Given the description of an element on the screen output the (x, y) to click on. 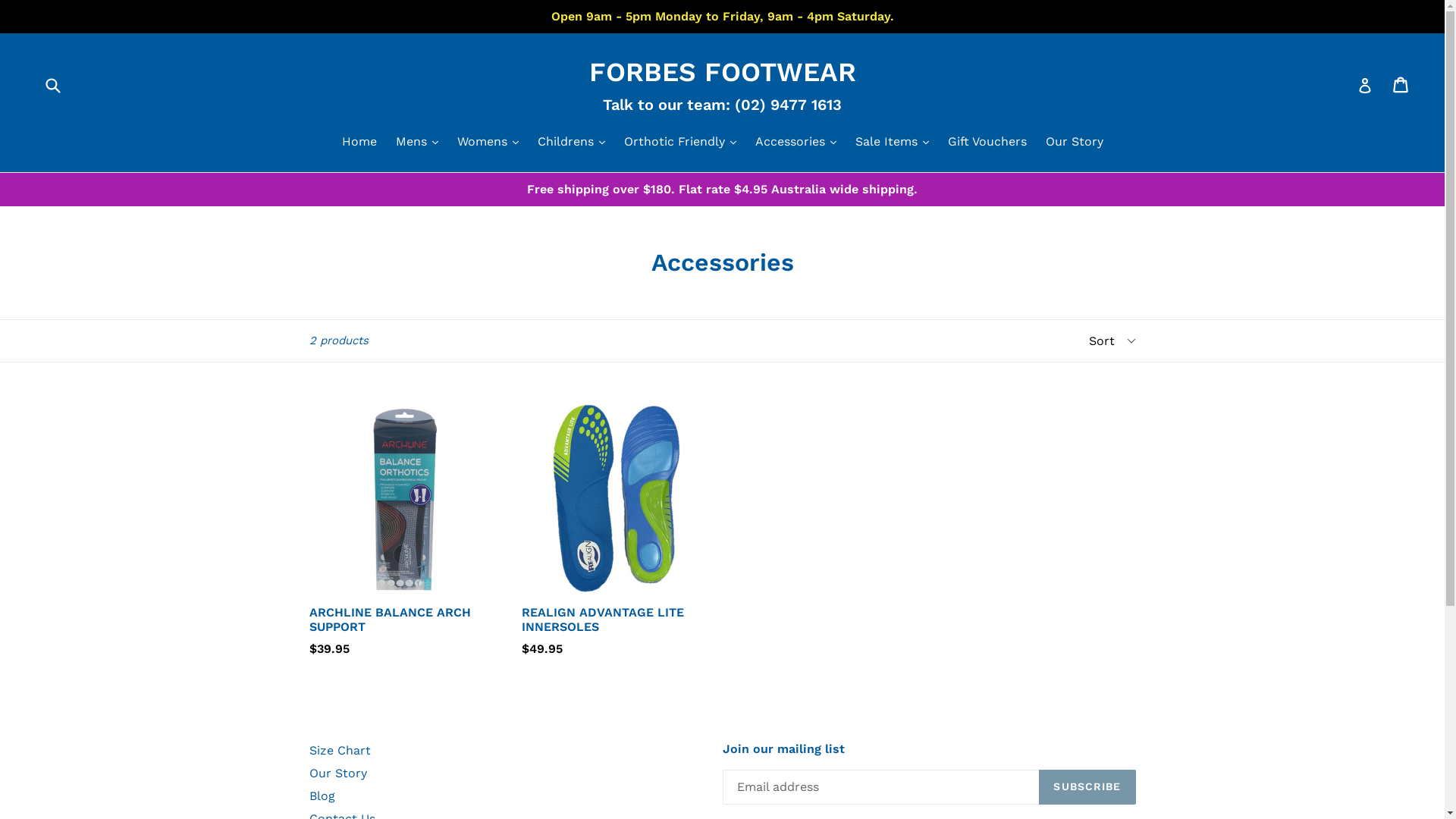
FORBES FOOTWEAR Element type: text (721, 71)
Log in Element type: text (1364, 84)
Blog Element type: text (322, 795)
Our Story Element type: text (338, 772)
ARCHLINE BALANCE ARCH SUPPORT
Regular price
$39.95 Element type: text (403, 531)
Submit Element type: text (51, 84)
Talk to our team: (02) 9477 1613 Element type: text (721, 104)
Cart
Cart Element type: text (1401, 84)
REALIGN ADVANTAGE LITE INNERSOLES
Regular price
$49.95 Element type: text (616, 531)
Gift Vouchers Element type: text (987, 142)
SUBSCRIBE Element type: text (1086, 786)
Our Story Element type: text (1073, 142)
Home Element type: text (358, 142)
Size Chart Element type: text (339, 750)
